Given the description of an element on the screen output the (x, y) to click on. 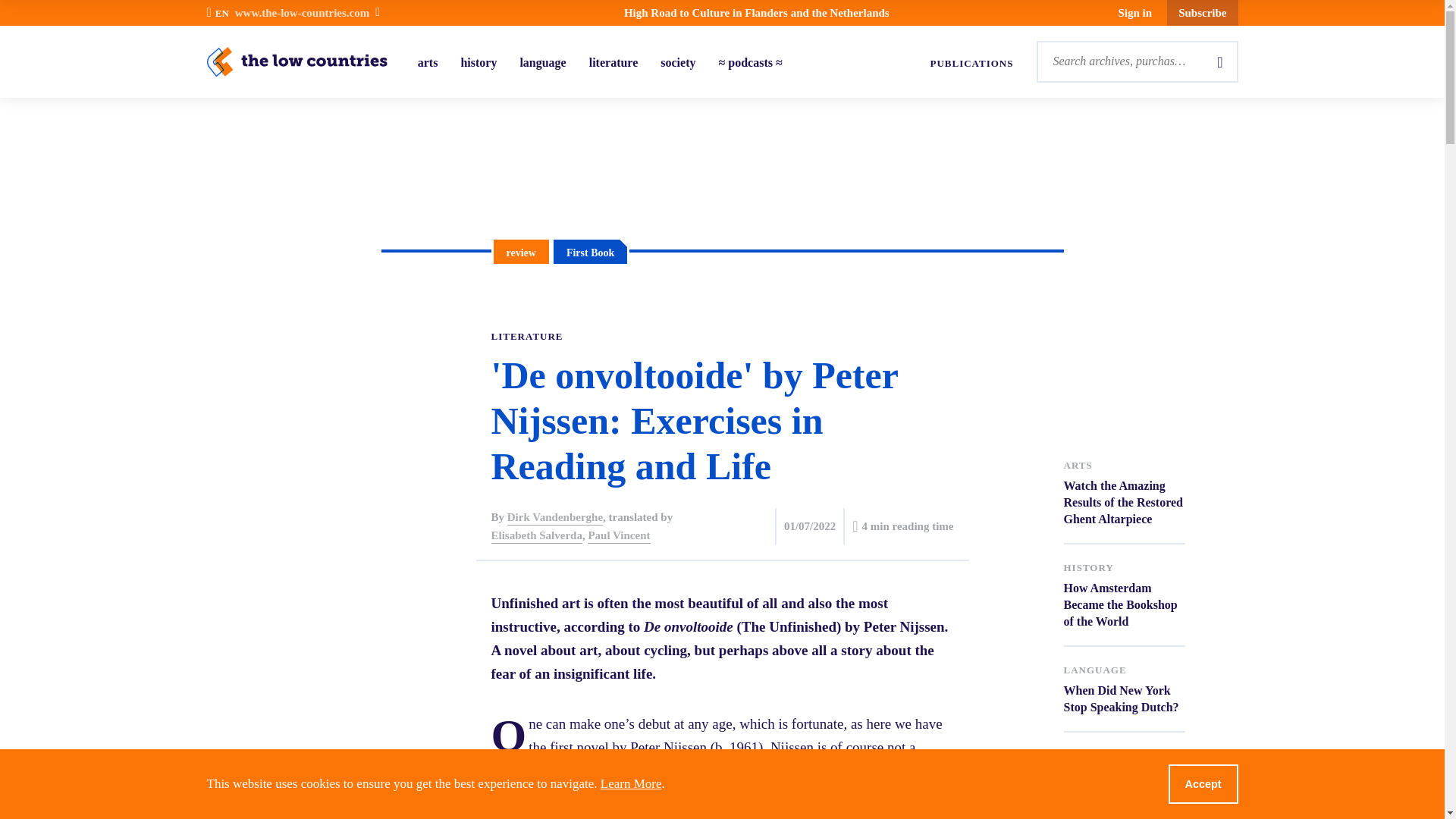
Dirk Vandenberghe (554, 517)
Elisabeth Salverda (537, 535)
Paul Vincent (618, 535)
Logo-eng (296, 61)
First Book (590, 252)
PUBLICATIONS (971, 63)
language (542, 61)
Accept (1202, 783)
literature (614, 61)
review (521, 251)
Subscribe (1202, 12)
Learn More (630, 783)
Sign in (1135, 13)
